Given the description of an element on the screen output the (x, y) to click on. 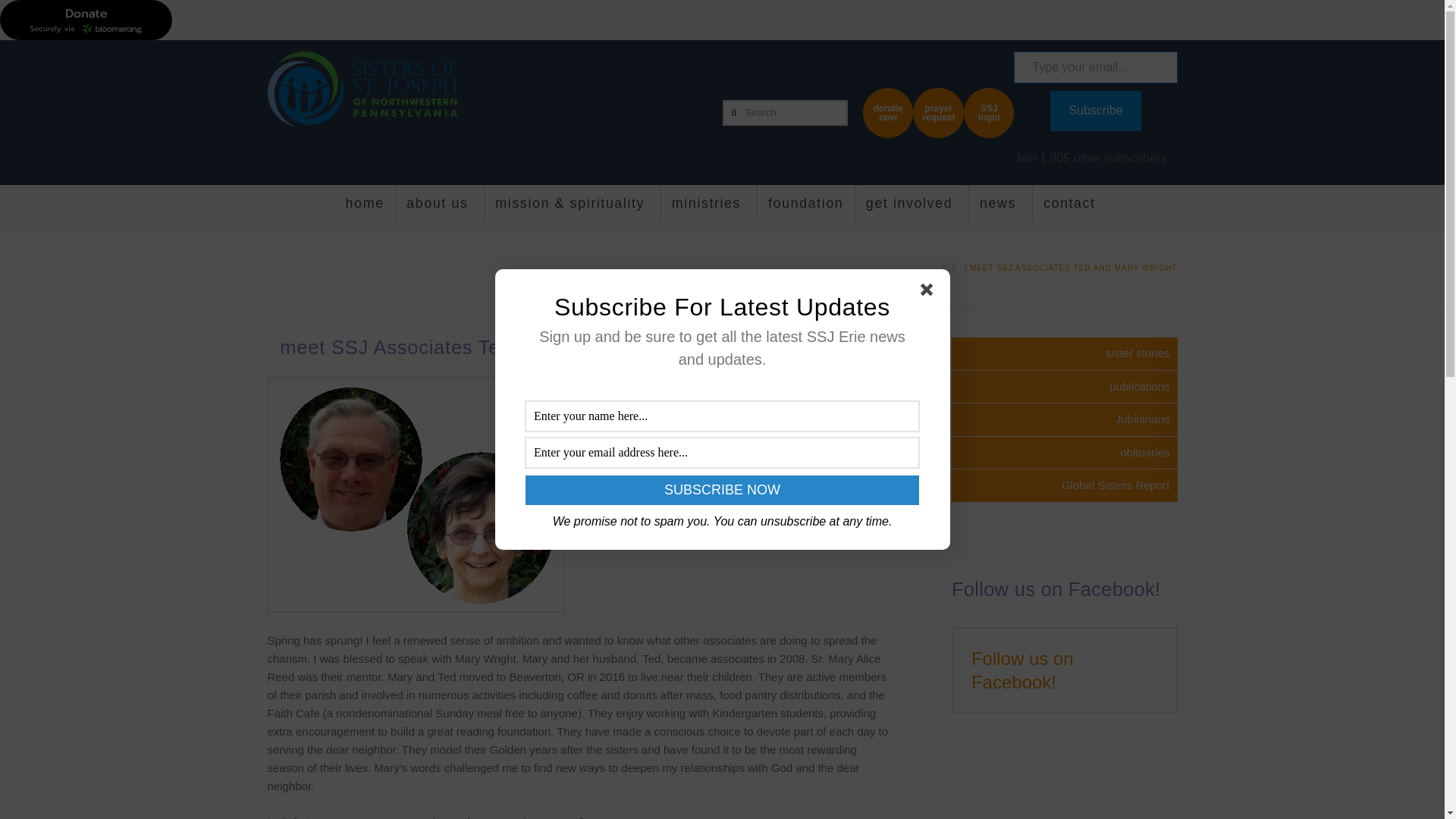
home (365, 207)
foundation (805, 207)
Close optin form (929, 292)
You Are Here (1073, 267)
ministries (709, 207)
SSJ login (988, 112)
donate now (887, 112)
Subscribe (1094, 110)
get involved (911, 207)
contact (1071, 207)
Subscribe Now (721, 489)
about us (438, 207)
news (1000, 207)
prayer request (937, 112)
